Given the description of an element on the screen output the (x, y) to click on. 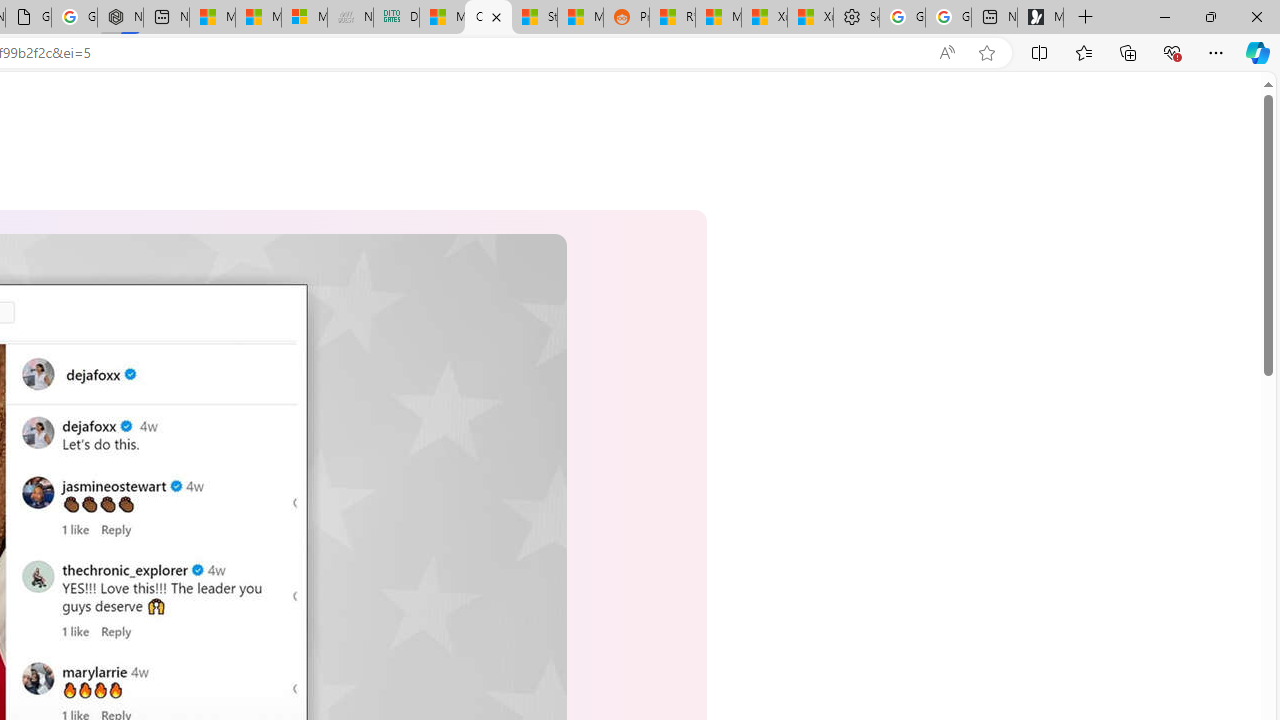
R******* | Trusted Community Engagement and Contributions (672, 17)
